Given the description of an element on the screen output the (x, y) to click on. 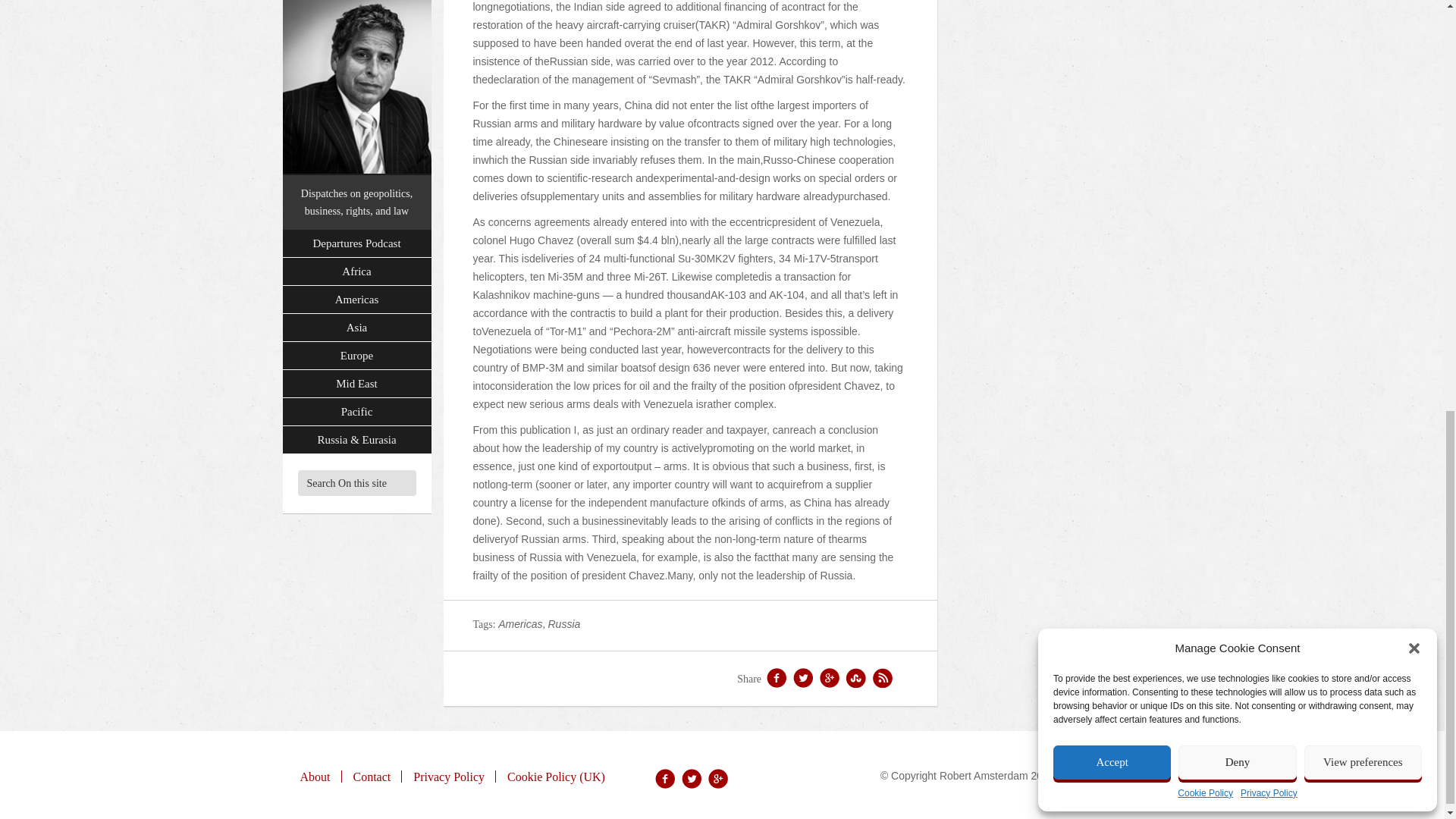
Russia (563, 623)
Americas (519, 623)
